Given the description of an element on the screen output the (x, y) to click on. 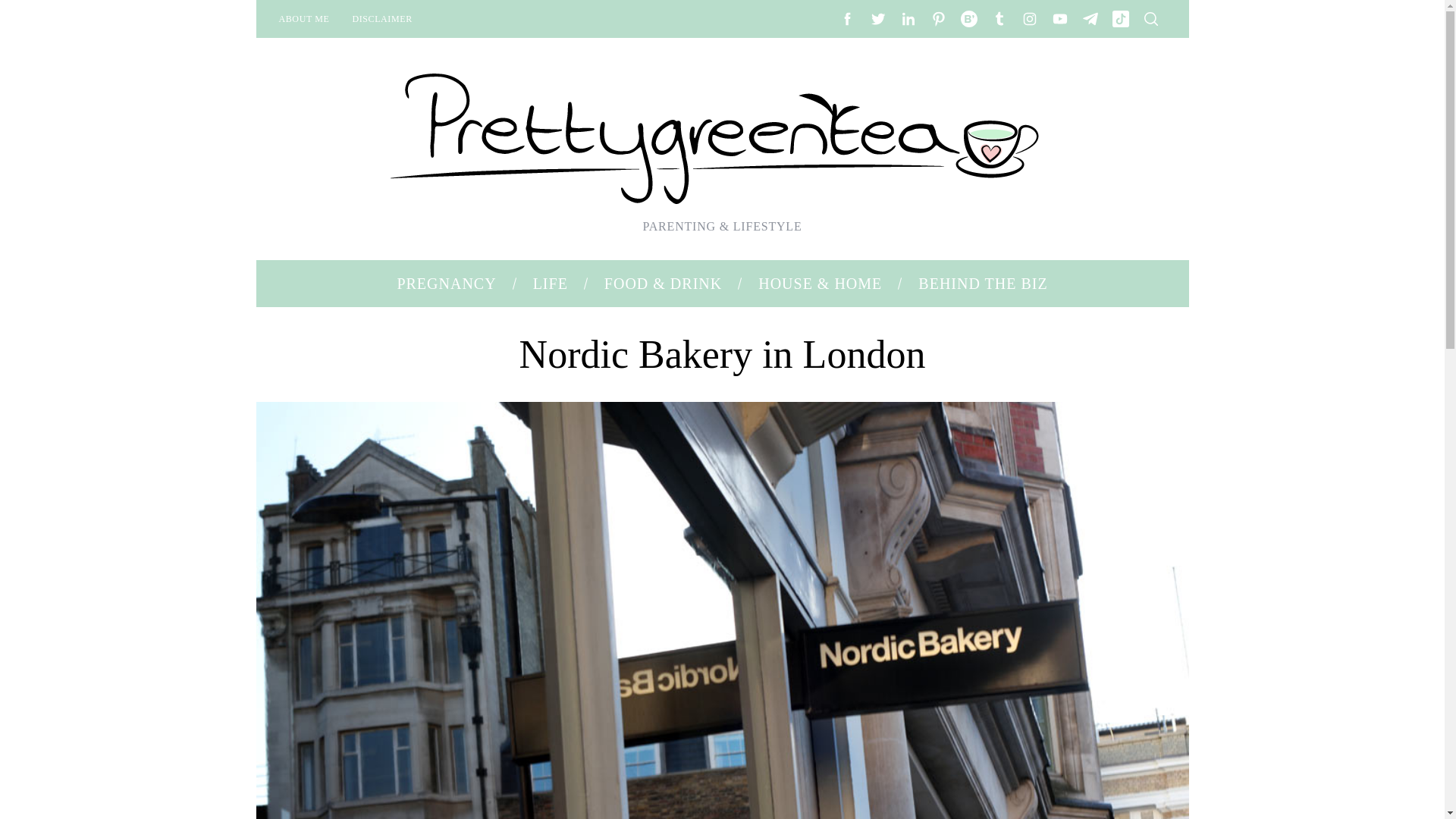
ABOUT ME (303, 18)
DISCLAIMER (381, 18)
LIFE (550, 283)
PREGNANCY (445, 283)
